Given the description of an element on the screen output the (x, y) to click on. 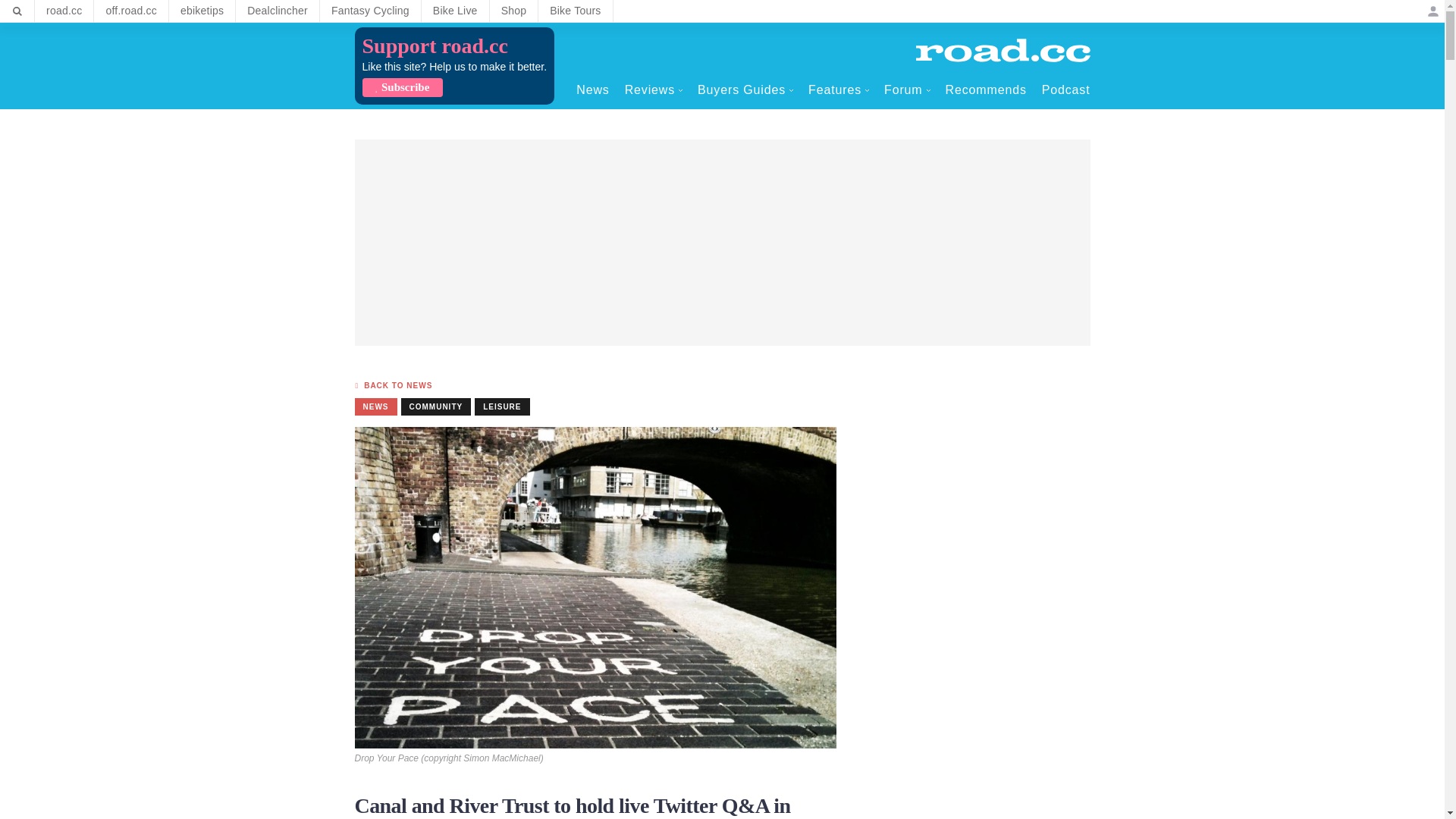
road.cc (63, 11)
Shop (513, 11)
Bike Tours (574, 11)
Bike Live (455, 11)
Dealclincher (276, 11)
Fantasy Cycling (370, 11)
off.road.cc (131, 11)
Reviews (653, 89)
Subscribe (402, 87)
Home (1002, 50)
